Given the description of an element on the screen output the (x, y) to click on. 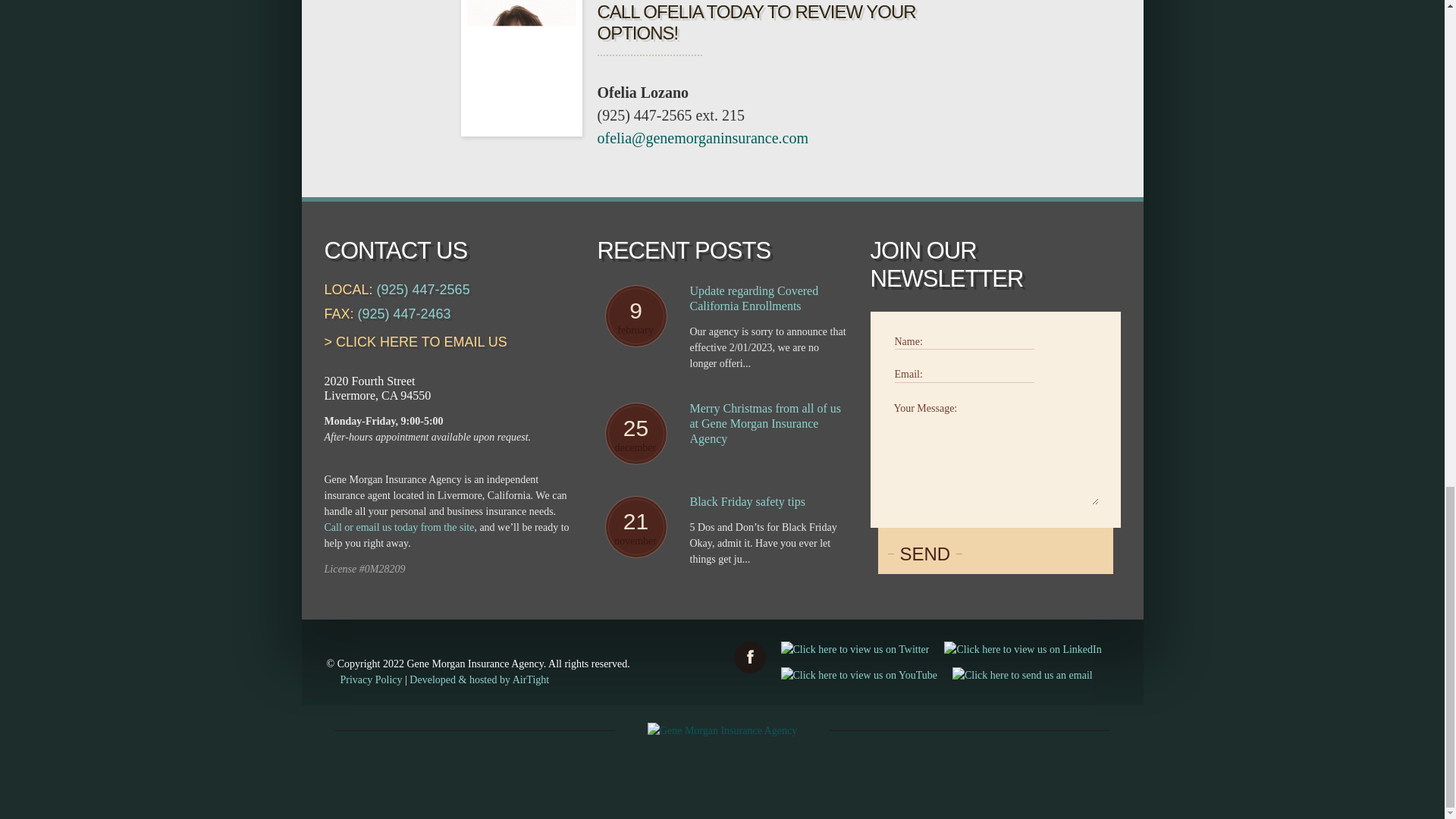
Black Friday safety tips (768, 501)
Update regarding Covered California Enrollments (768, 298)
Click here to view us on YouTube (858, 675)
